Given the description of an element on the screen output the (x, y) to click on. 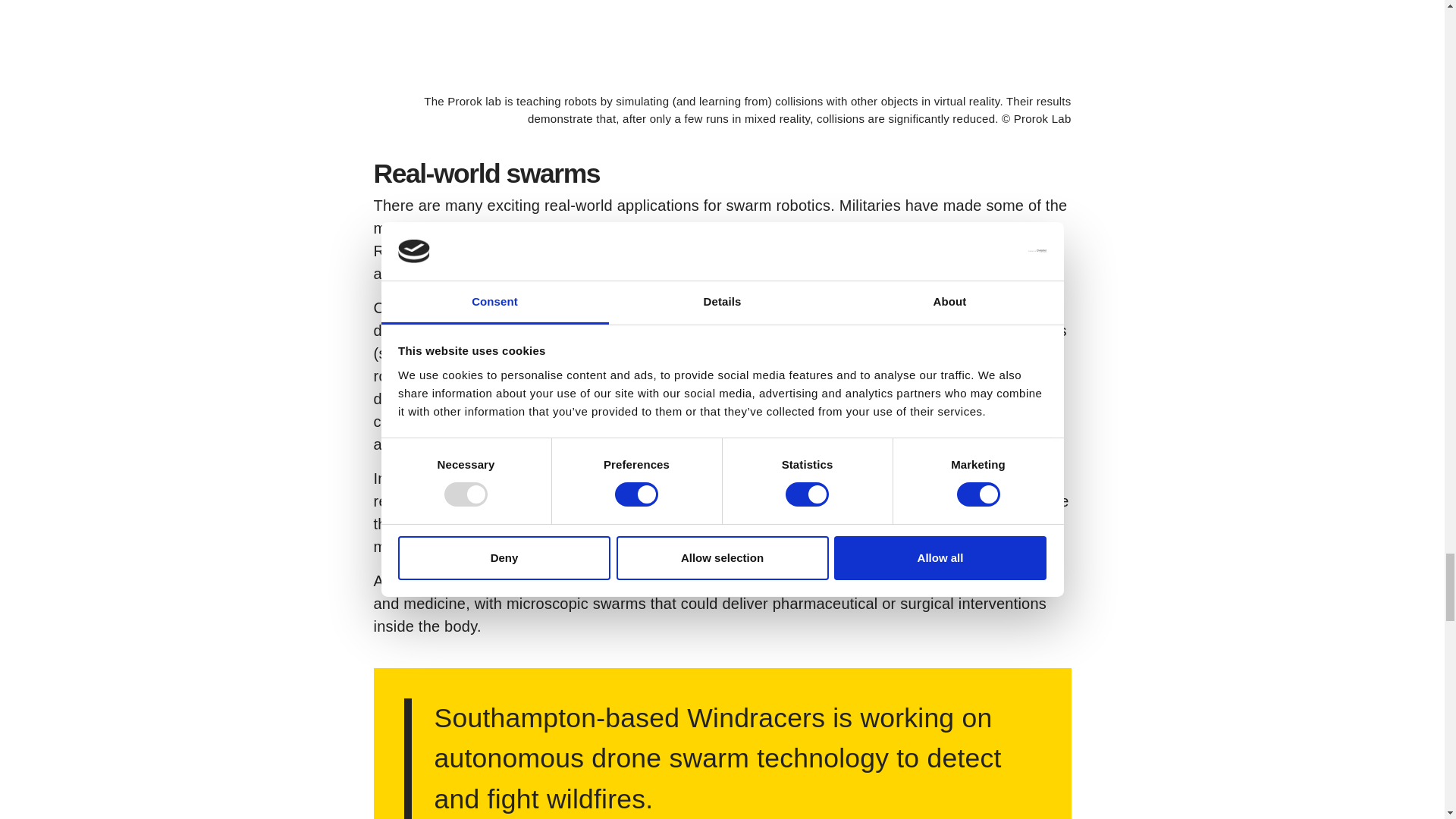
Adding value through maintenance (919, 273)
